Given the description of an element on the screen output the (x, y) to click on. 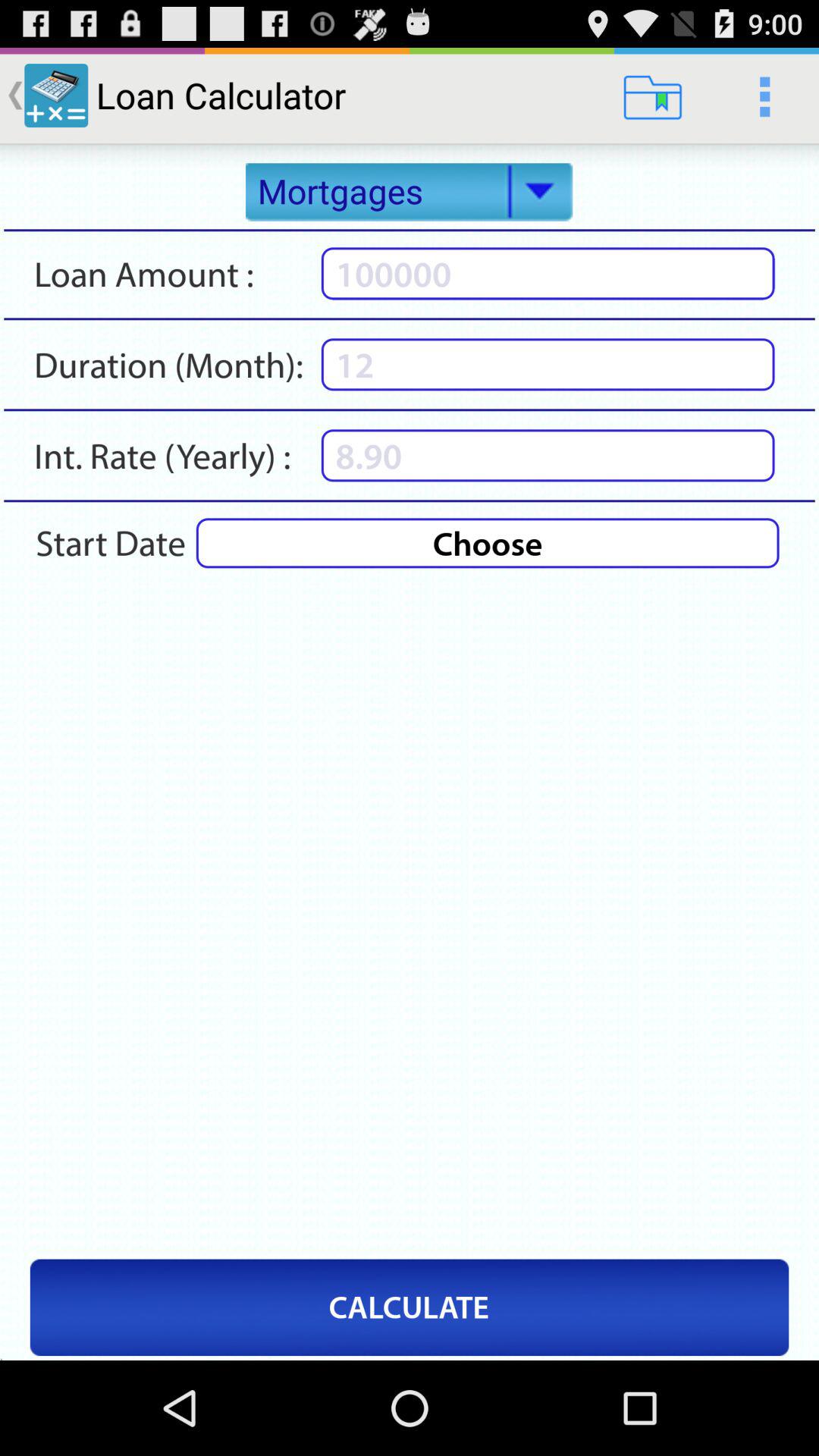
insert year (547, 455)
